Given the description of an element on the screen output the (x, y) to click on. 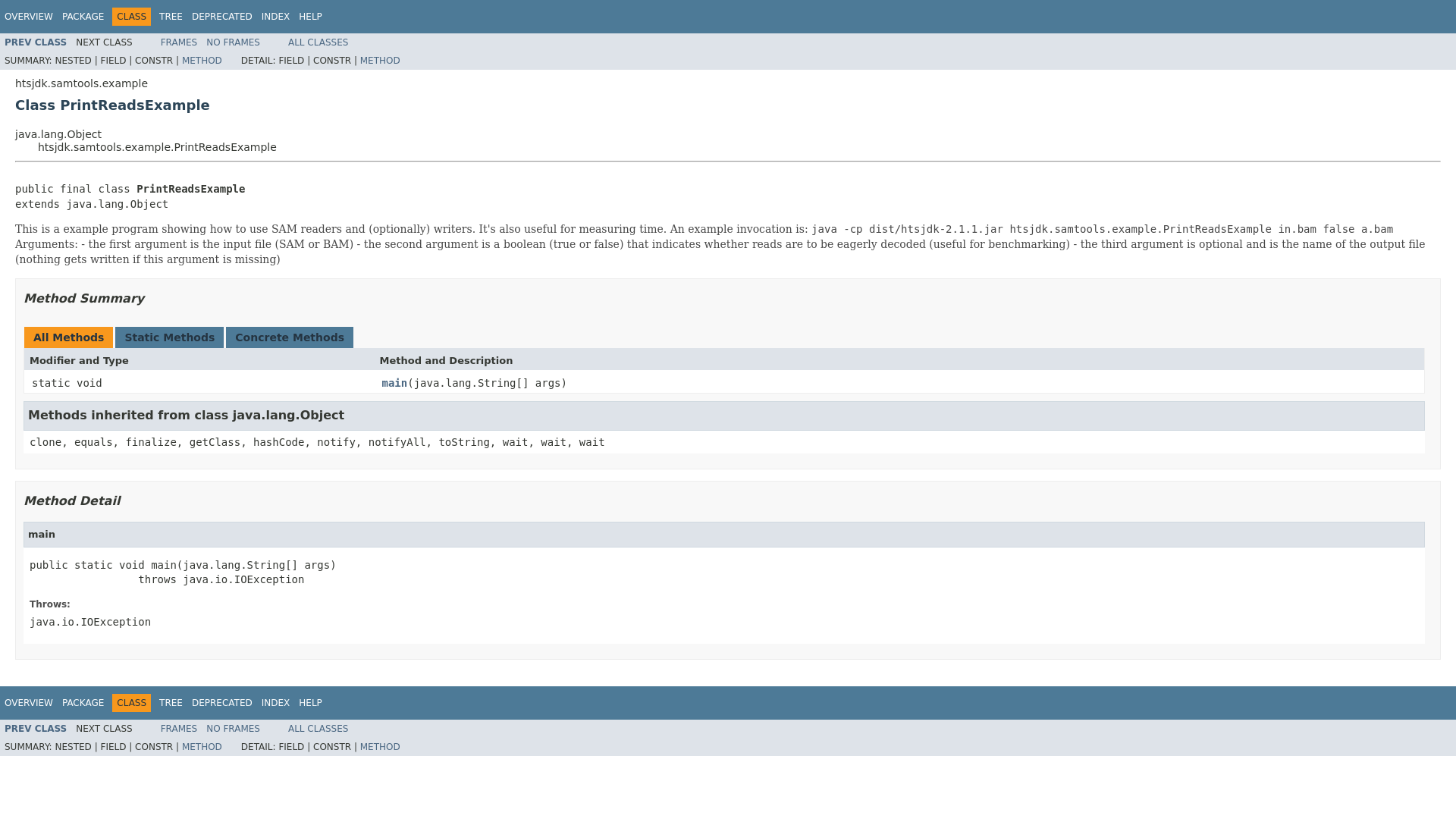
METHOD (379, 60)
METHOD (379, 747)
OVERVIEW (28, 702)
PREV CLASS (35, 41)
class in htsjdk.samtools.example (35, 41)
PACKAGE (82, 702)
PACKAGE (82, 16)
METHOD (202, 747)
FRAMES (179, 41)
FRAMES (179, 728)
PREV CLASS (35, 728)
TREE (170, 702)
main (394, 383)
NO FRAMES (233, 41)
